Given the description of an element on the screen output the (x, y) to click on. 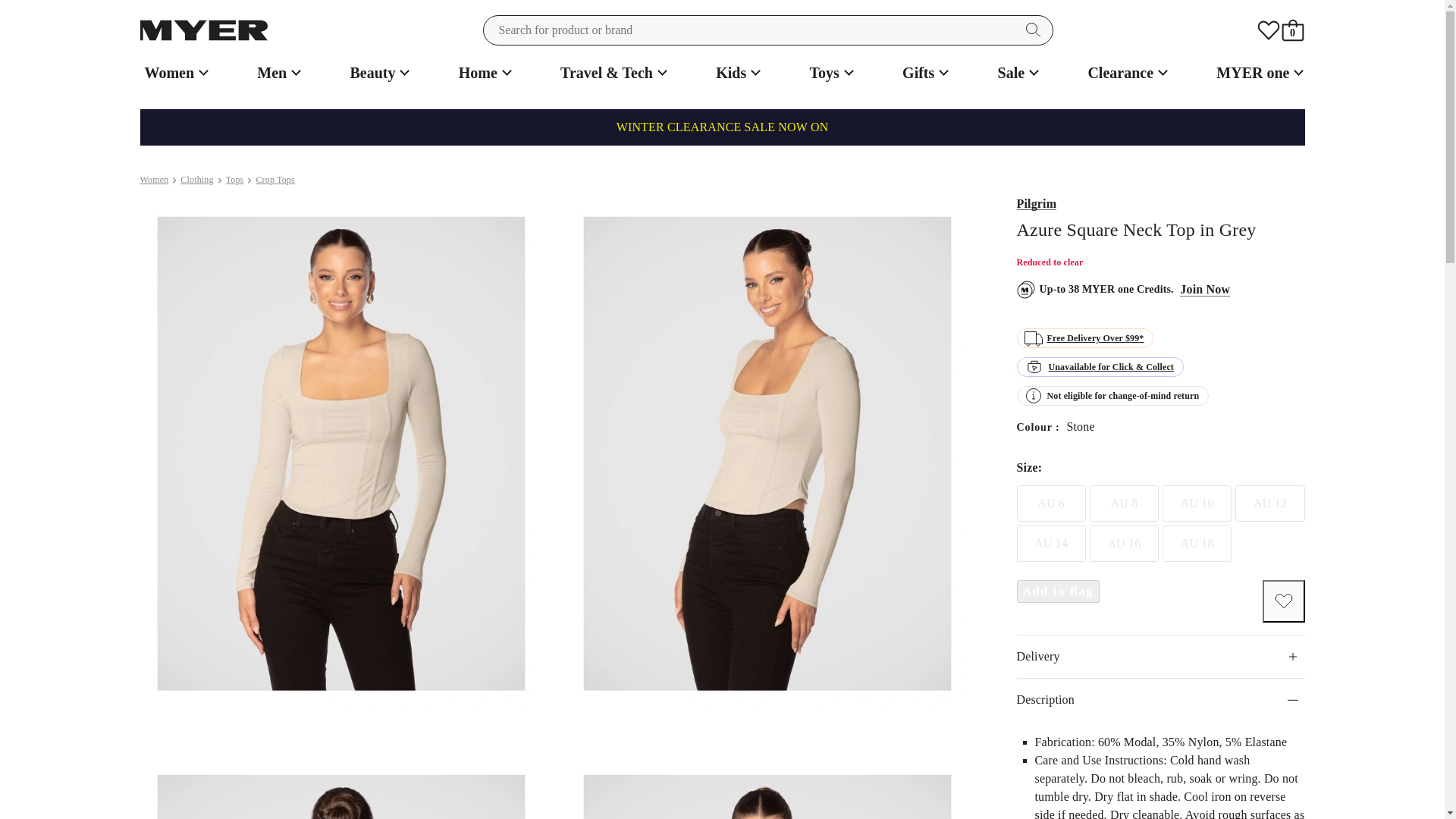
Women (174, 72)
0 (1291, 30)
